Given the description of an element on the screen output the (x, y) to click on. 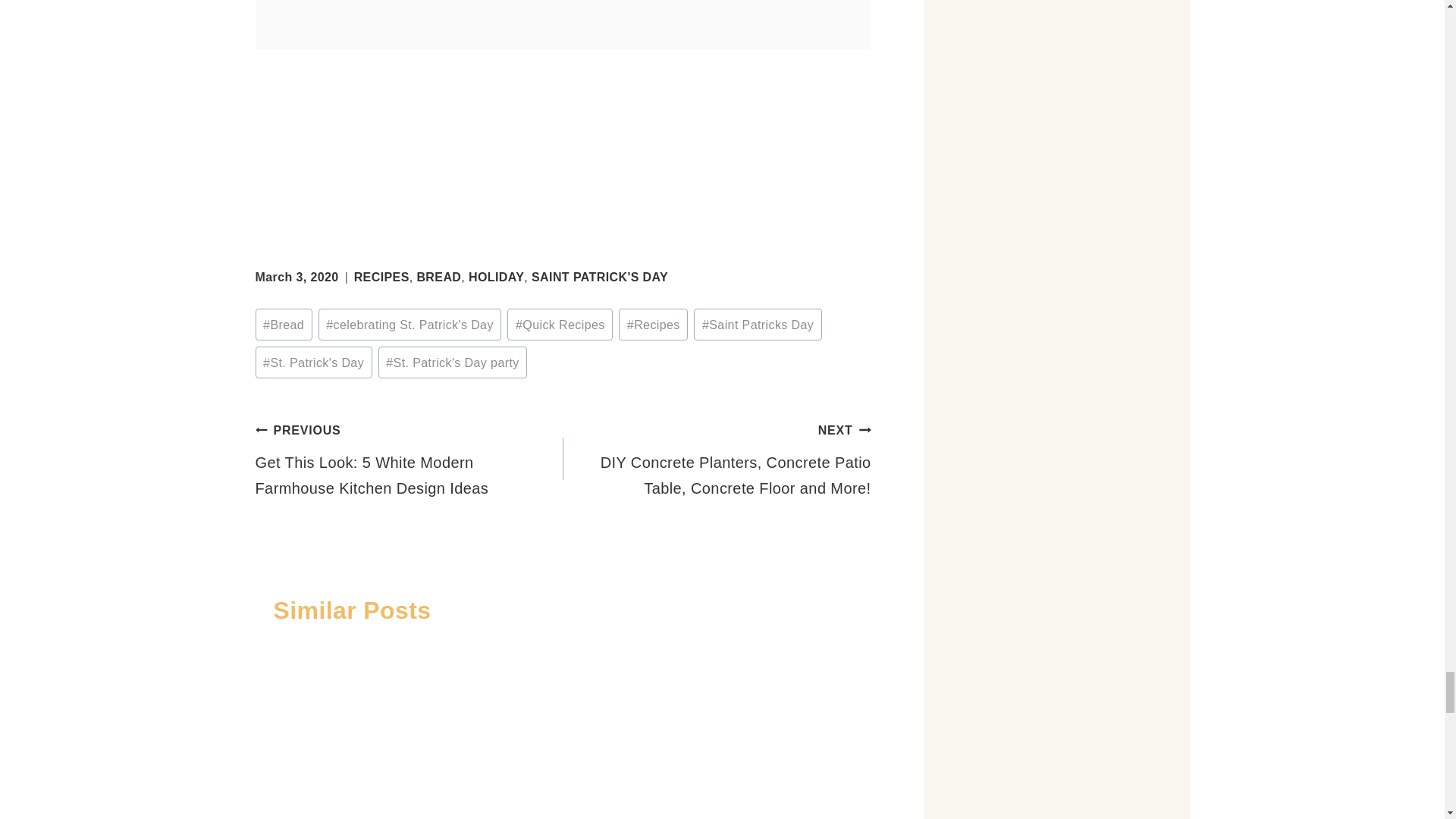
Quick Recipes (559, 324)
St. Patrick's Day (312, 362)
Recipes (652, 324)
Bread (282, 324)
celebrating St. Patrick's Day (410, 324)
St. Patrick's Day party (452, 362)
Saint Patricks Day (757, 324)
